Given the description of an element on the screen output the (x, y) to click on. 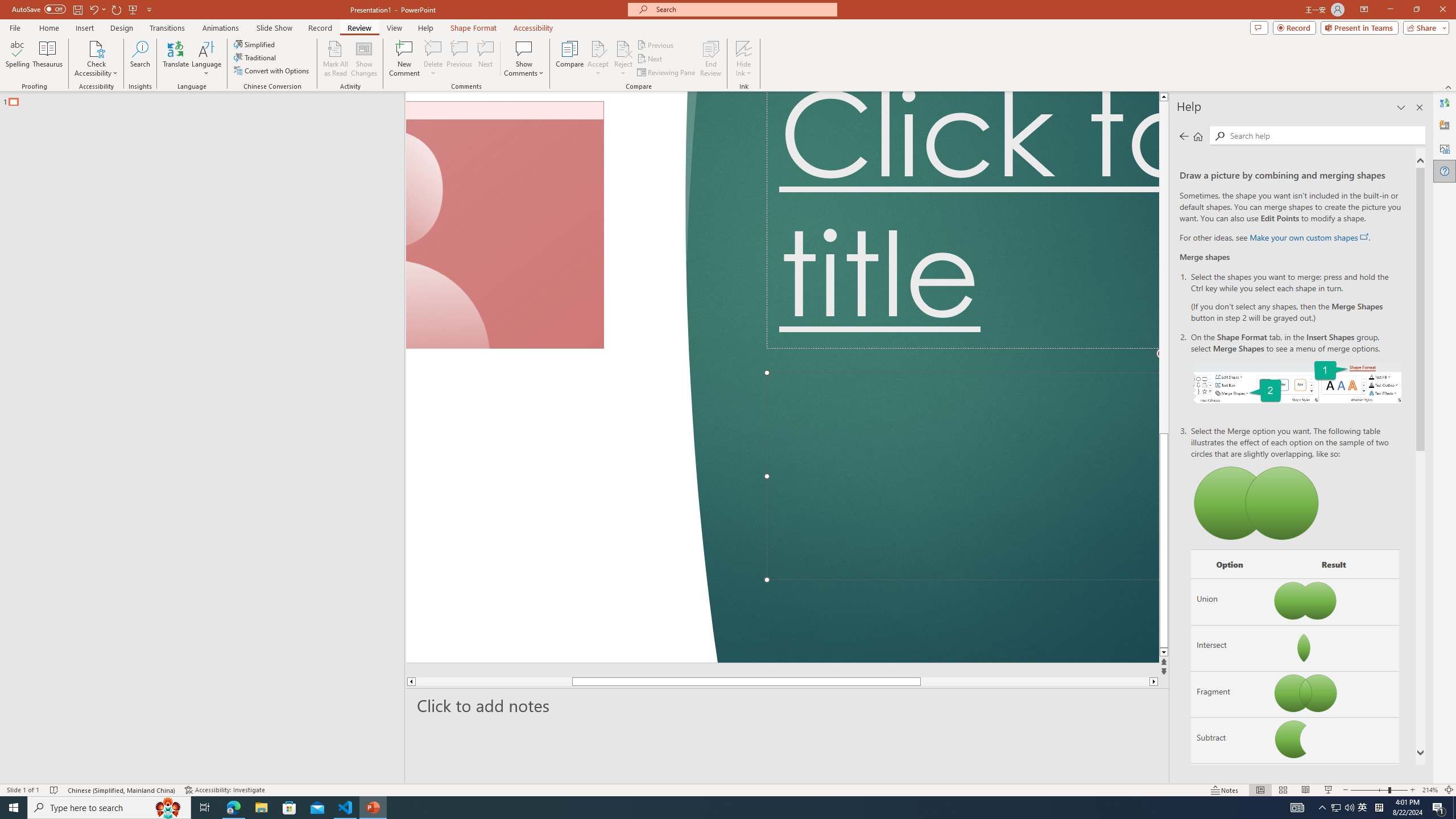
openinnewwindow (1363, 237)
Union (1229, 601)
Mark All as Read (335, 58)
